Given the description of an element on the screen output the (x, y) to click on. 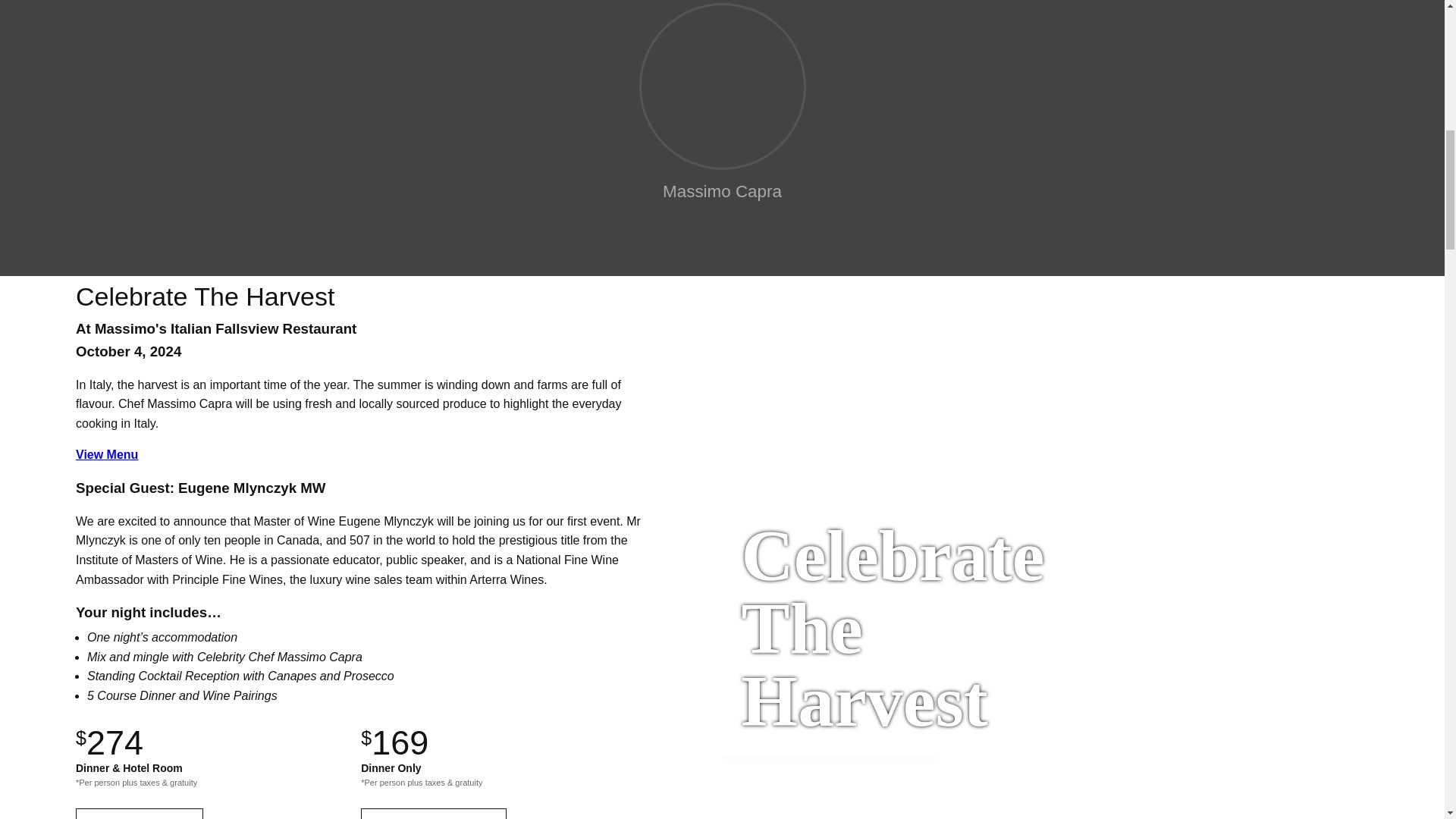
View Menu (106, 454)
BOOK NOW (139, 813)
BOOK A TABLE (433, 813)
